Given the description of an element on the screen output the (x, y) to click on. 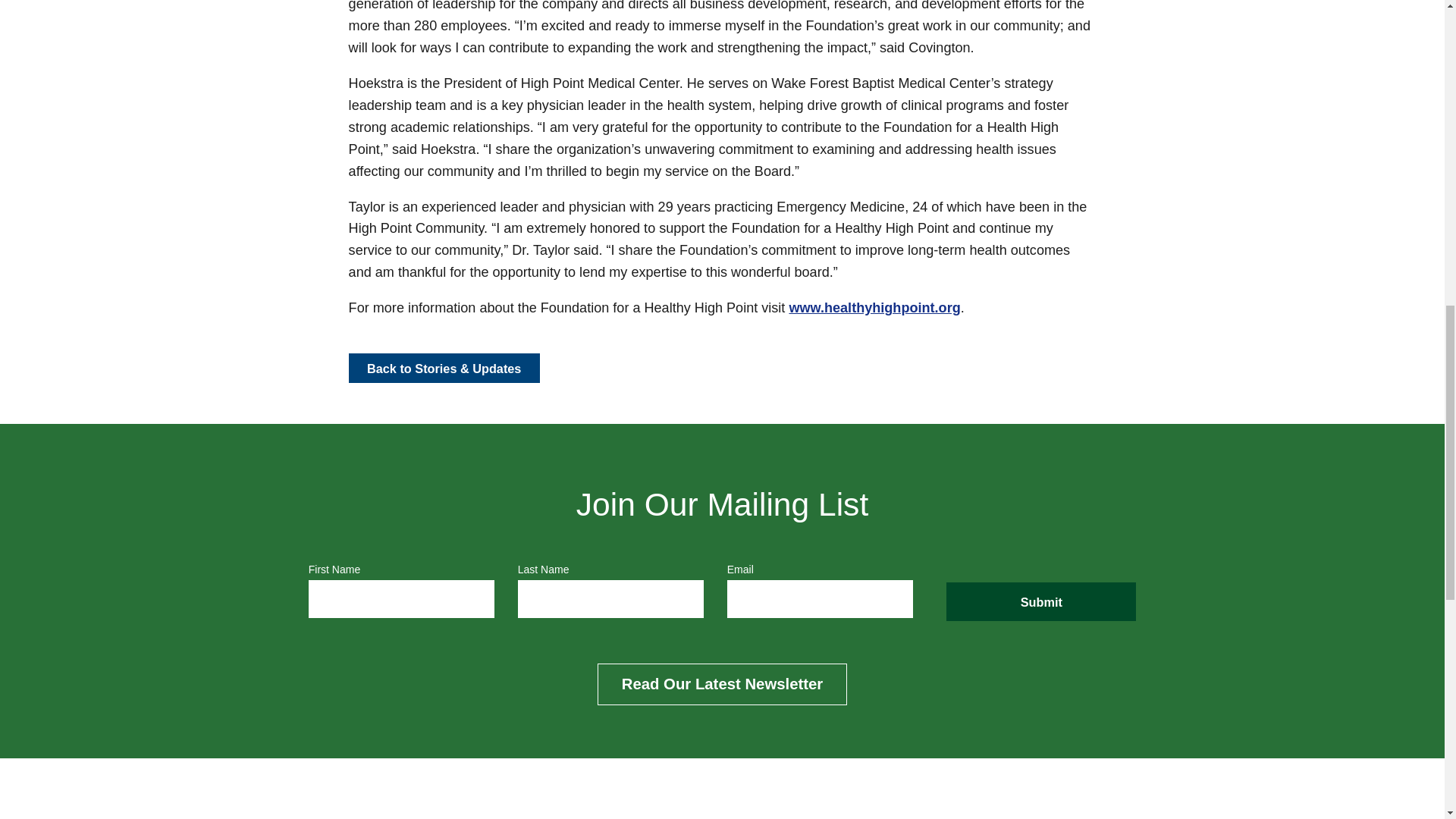
www.healthyhighpoint.org (874, 307)
Submit (1040, 600)
Read Our Latest Newsletter (720, 684)
Submit (1040, 600)
